Given the description of an element on the screen output the (x, y) to click on. 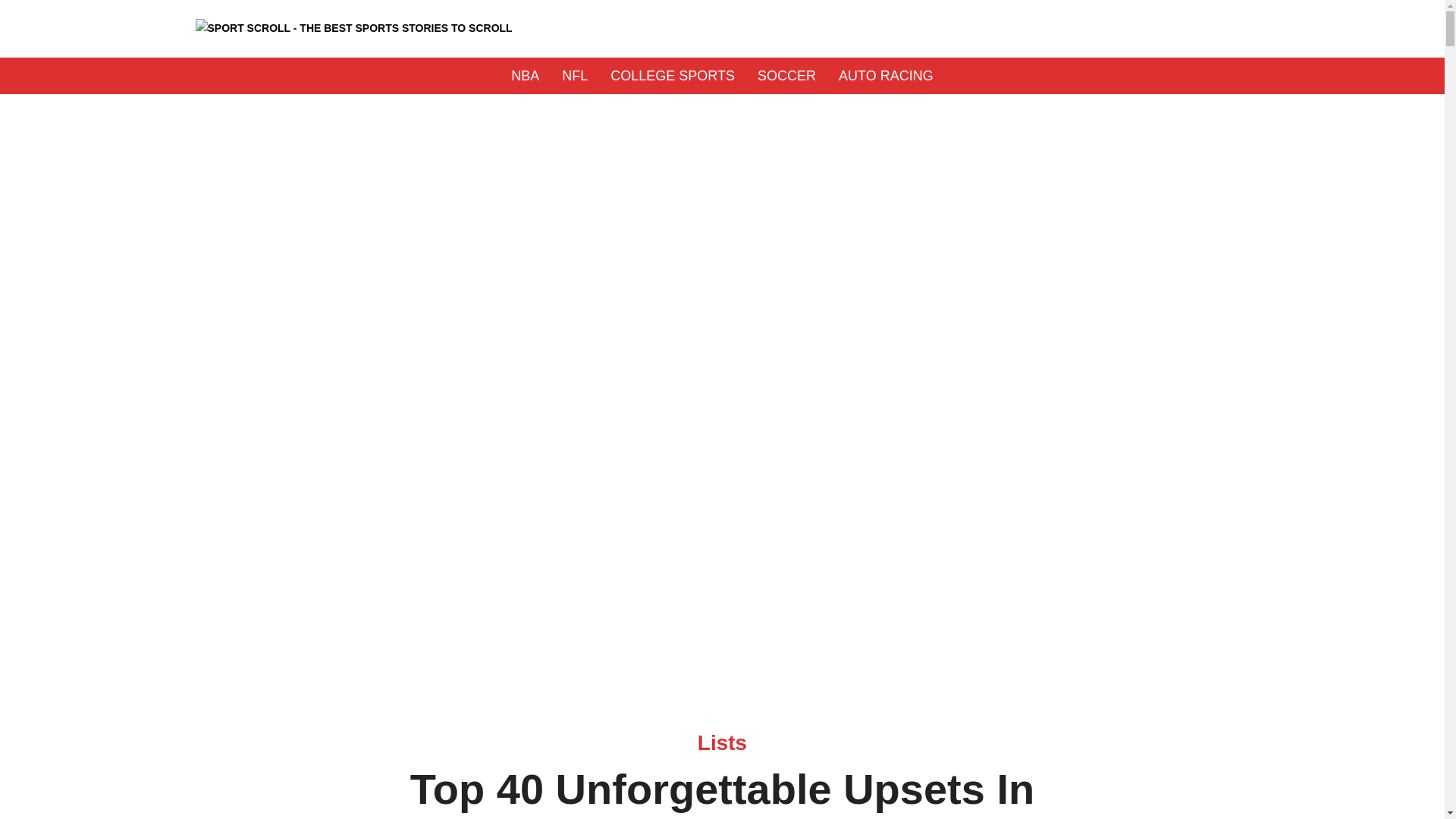
SOCCER (786, 75)
NFL (574, 75)
COLLEGE SPORTS (672, 75)
Lists (721, 742)
NBA (525, 75)
AUTO RACING (885, 75)
